Given the description of an element on the screen output the (x, y) to click on. 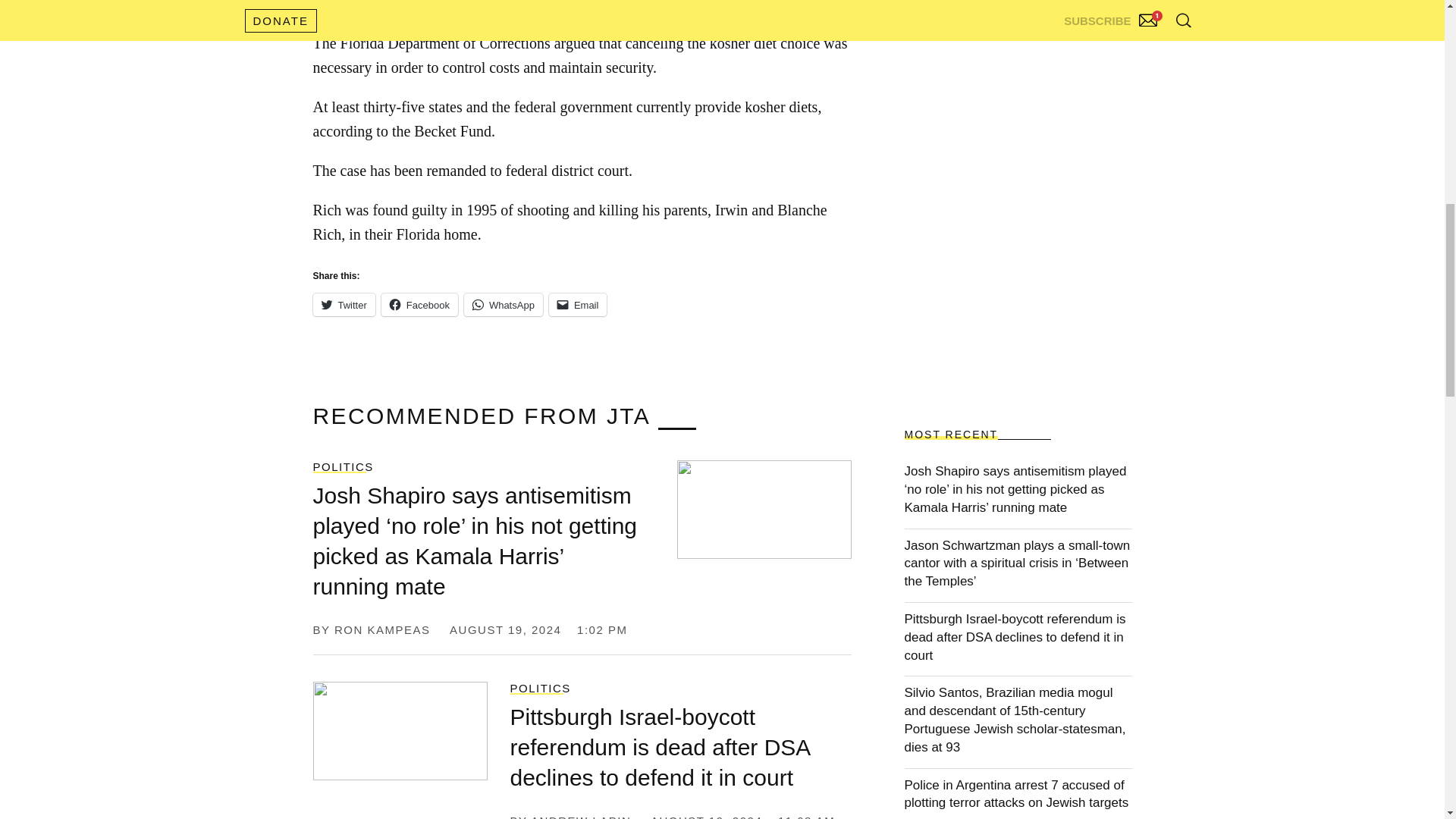
Click to share on Twitter (343, 304)
Click to share on Facebook (419, 304)
Click to share on WhatsApp (503, 304)
Click to email a link to a friend (577, 304)
